Given the description of an element on the screen output the (x, y) to click on. 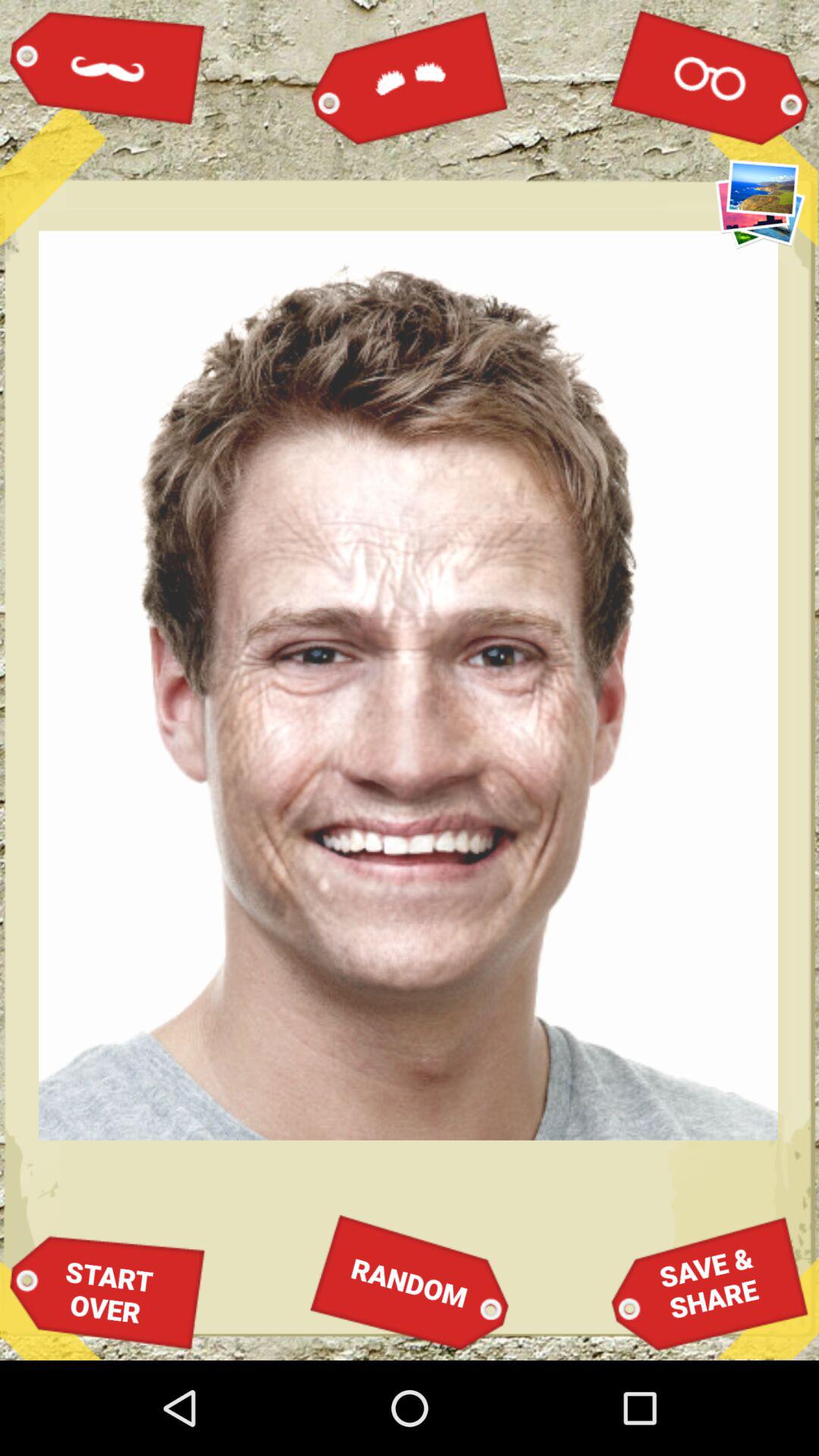
turn off the icon at the top (409, 77)
